Given the description of an element on the screen output the (x, y) to click on. 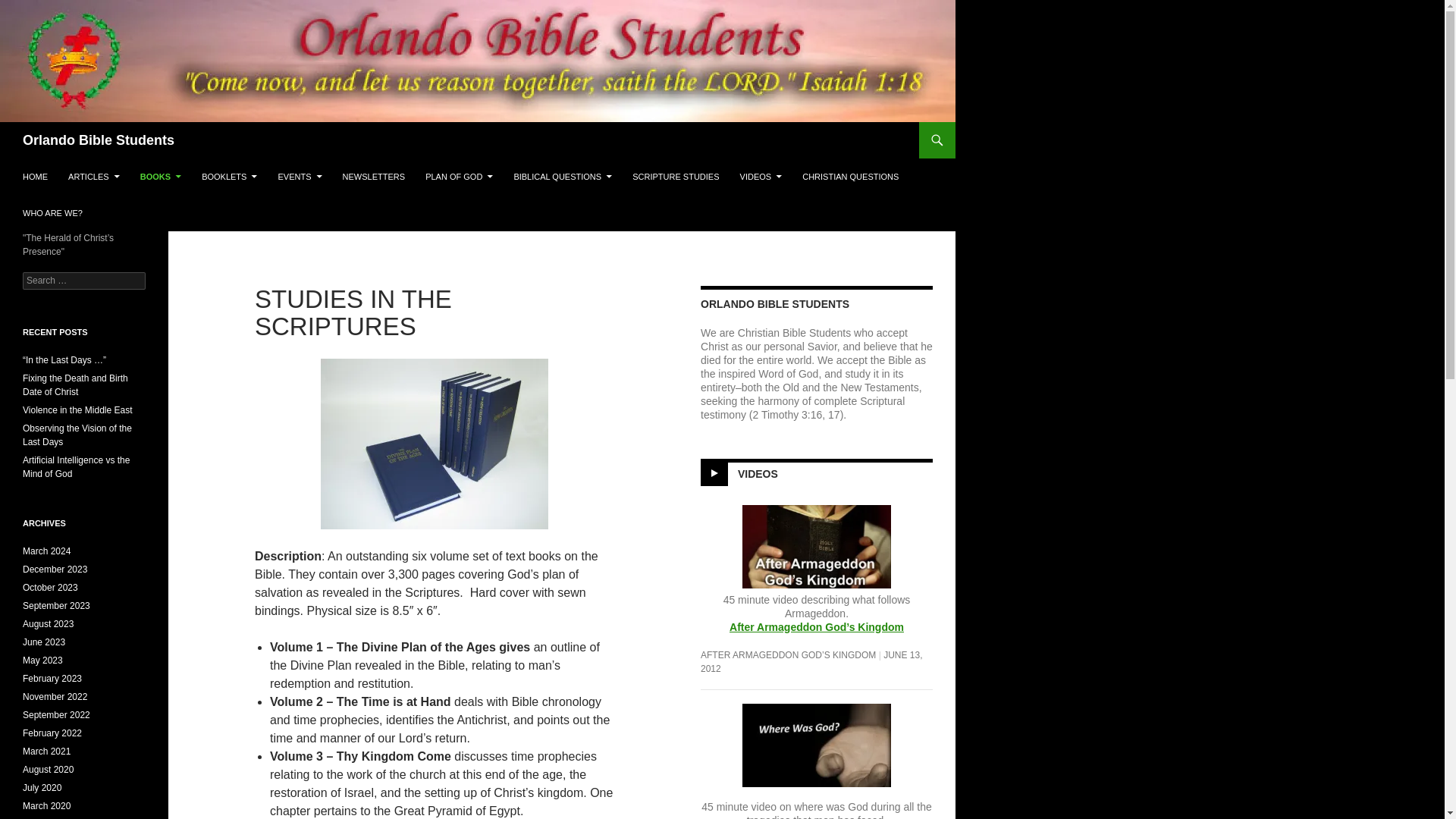
After Armageddon God's Kingdom (816, 555)
Orlando Bible Students (98, 140)
After Armegeddon God's Kingdom (816, 626)
EVENTS (298, 176)
BOOKLETS (229, 176)
Where Was God? (816, 743)
ARTICLES (94, 176)
BOOKS (160, 176)
HOME (34, 176)
